Given the description of an element on the screen output the (x, y) to click on. 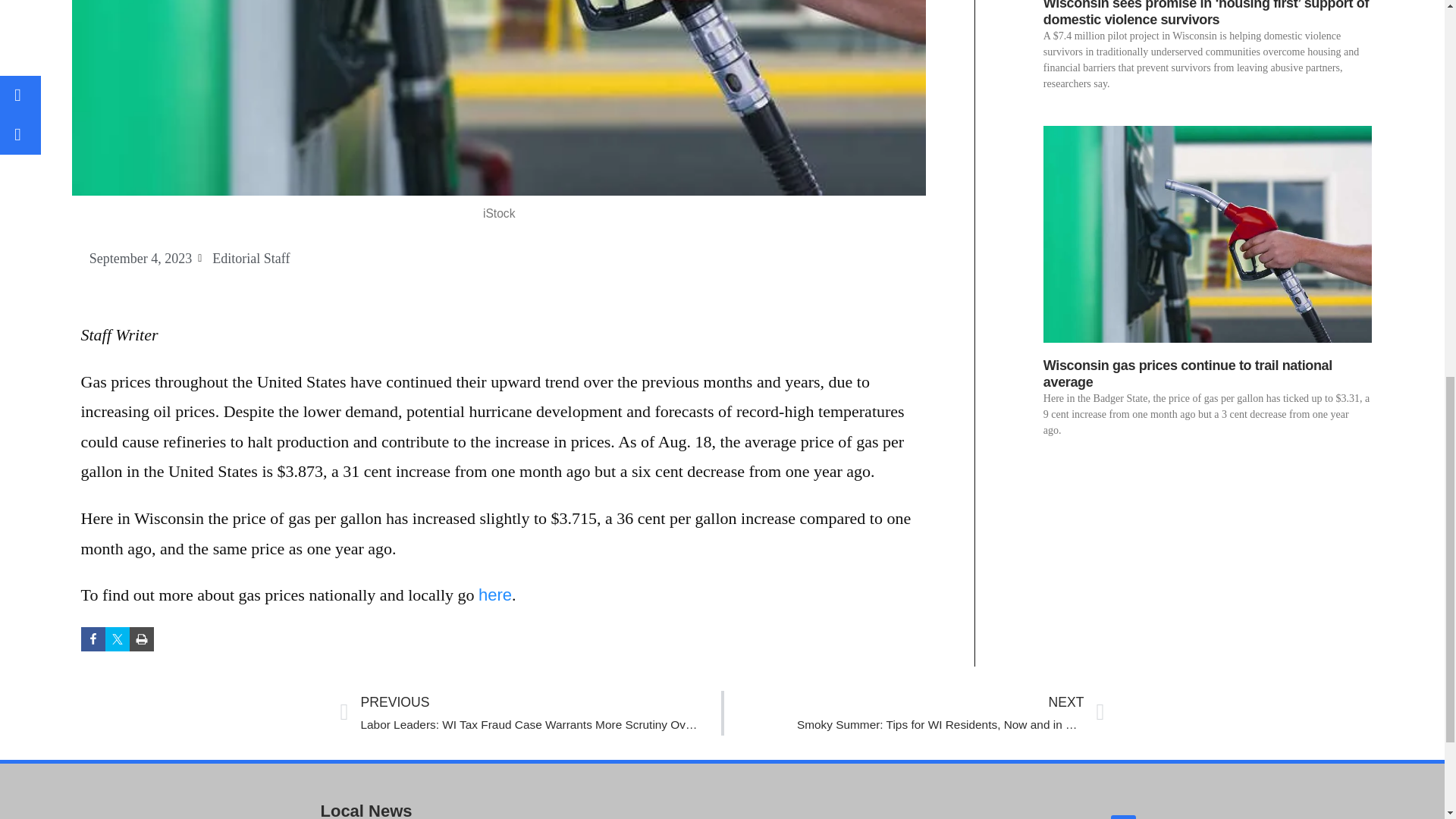
Share on Twitter (116, 639)
here (495, 594)
Share on Facebook (92, 639)
Local News (438, 806)
Wisconsin gas prices continue to trail national average (1187, 373)
Print this Page (913, 713)
